Given the description of an element on the screen output the (x, y) to click on. 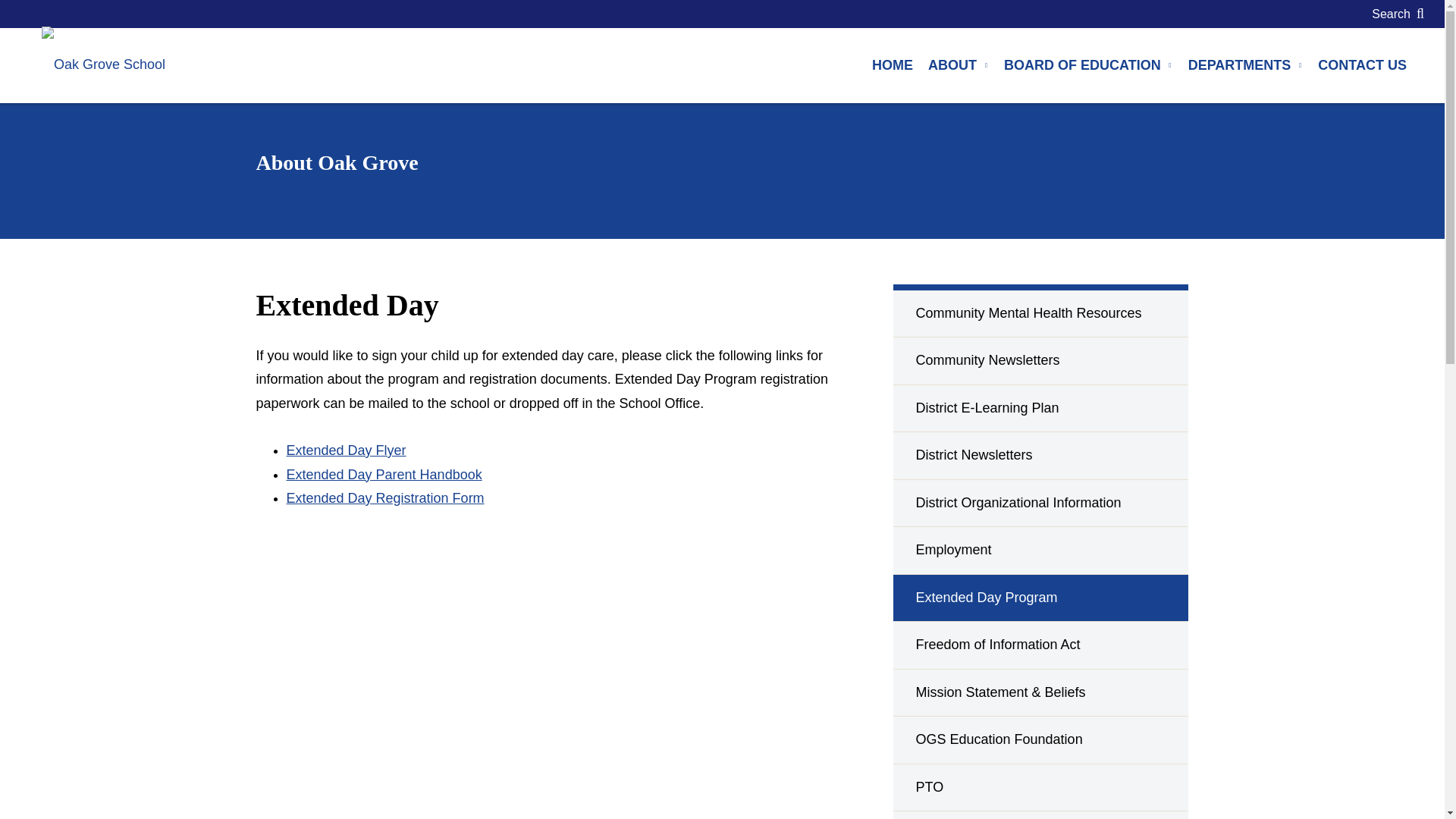
BOARD OF EDUCATION (1087, 65)
DEPARTMENTS (1245, 65)
ABOUT (957, 65)
